Given the description of an element on the screen output the (x, y) to click on. 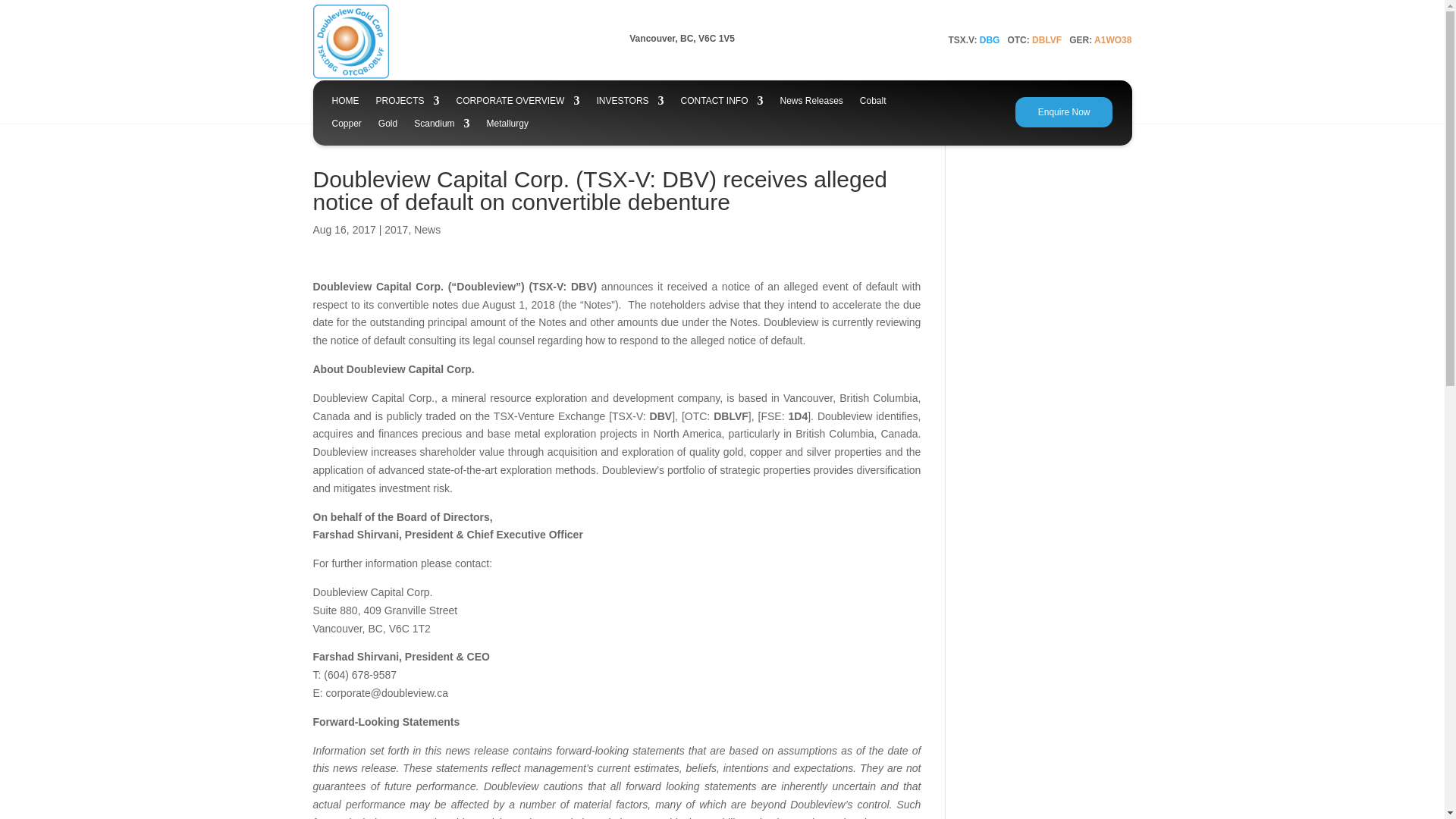
INVESTORS (629, 103)
PROJECTS (407, 103)
cropped-Doubleview-logo (350, 40)
Gold (387, 126)
DBLVF (1046, 40)
A1WO38 (1112, 40)
CONTACT INFO (721, 103)
Copper (346, 126)
Cobalt (873, 103)
DBG (989, 40)
Scandium (440, 126)
HOME (345, 103)
News Releases (810, 103)
CORPORATE OVERVIEW (518, 103)
